Given the description of an element on the screen output the (x, y) to click on. 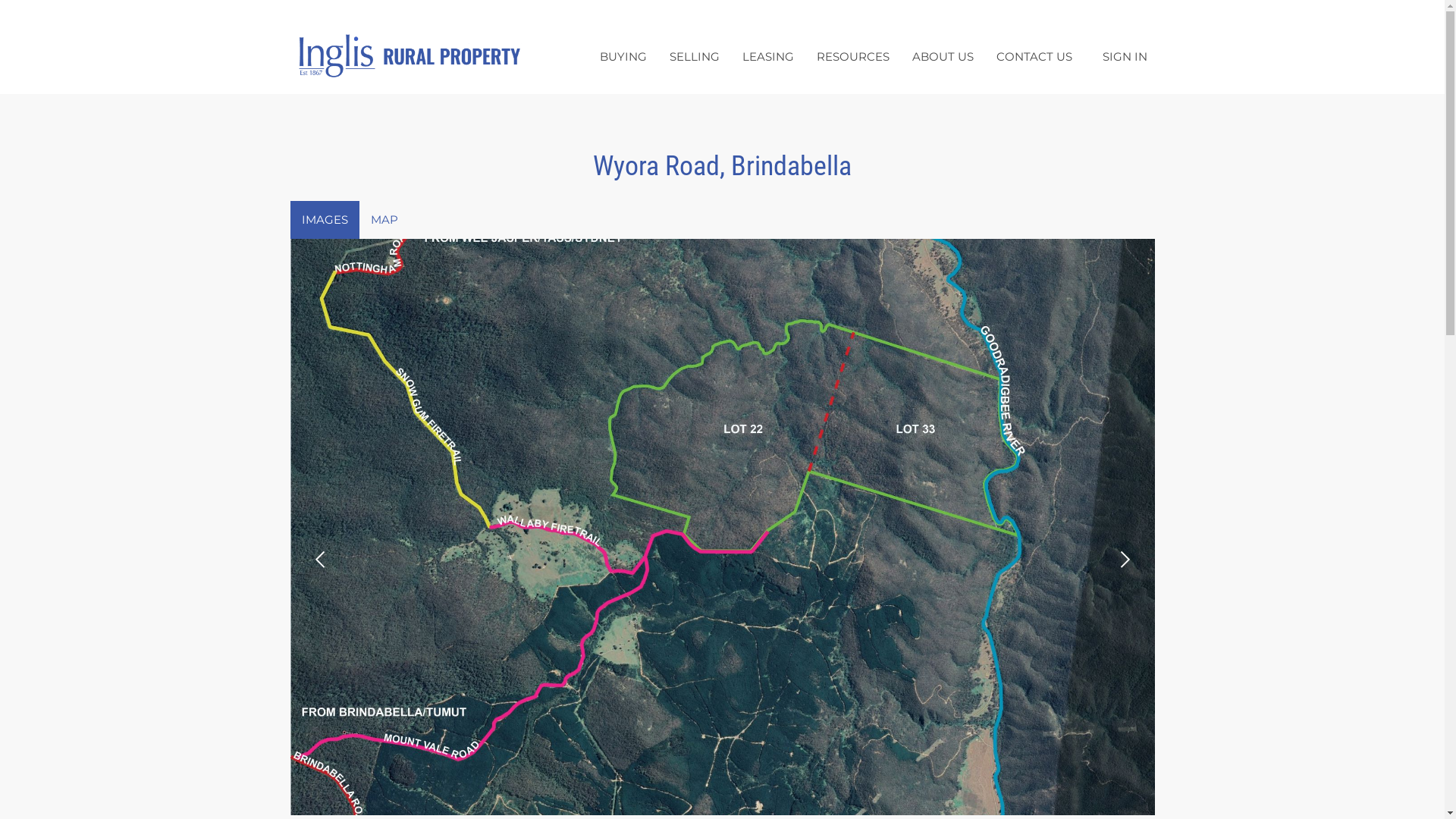
prev Element type: text (320, 559)
ABOUT US Element type: text (942, 56)
BUYING Element type: text (623, 56)
LEASING Element type: text (768, 56)
SIGN IN Element type: text (1124, 56)
SELLING Element type: text (694, 56)
next Element type: text (1123, 559)
IMAGES Element type: text (323, 219)
MAP Element type: text (384, 219)
RESOURCES Element type: text (852, 56)
CONTACT US Element type: text (1033, 56)
